Given the description of an element on the screen output the (x, y) to click on. 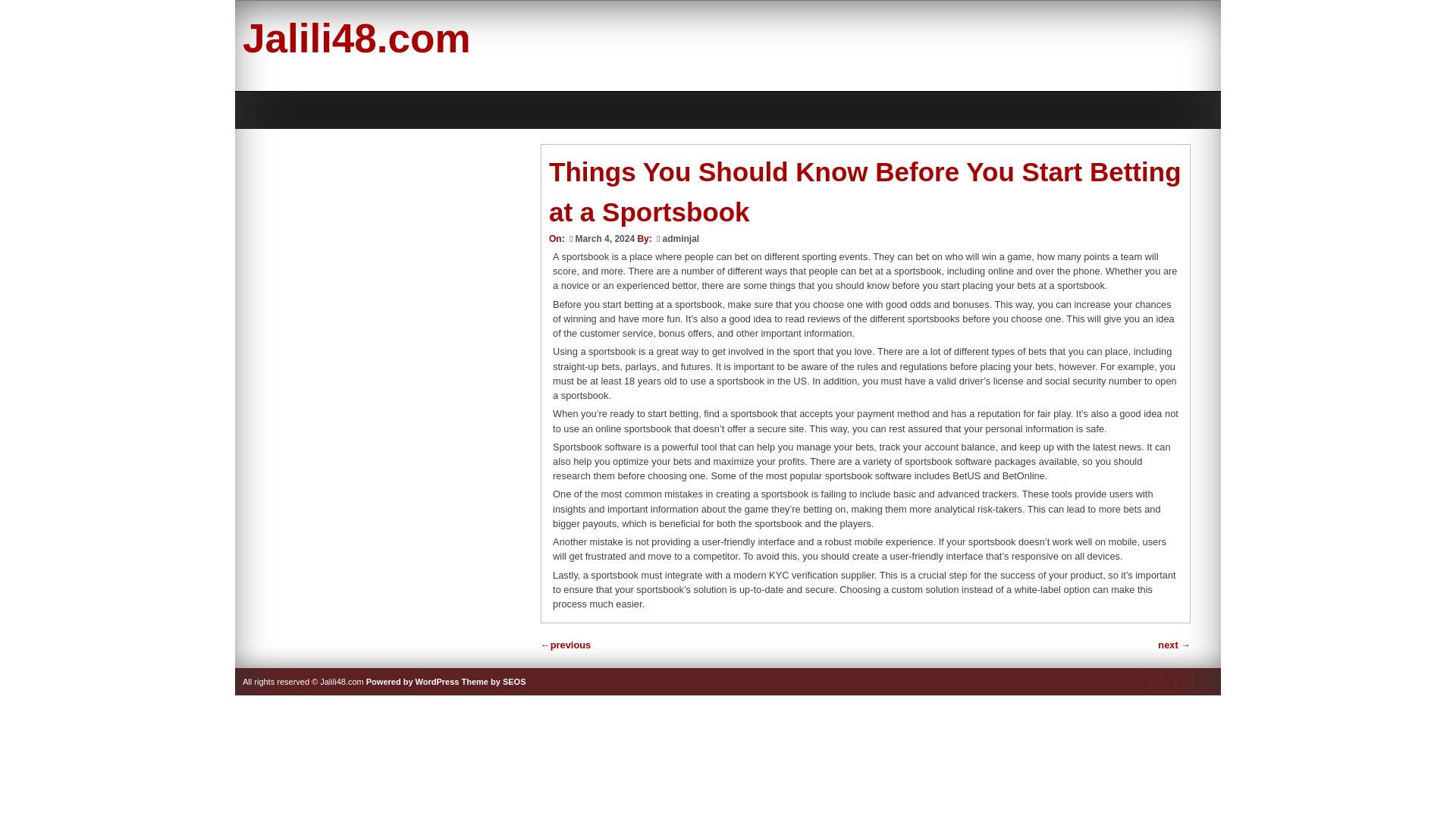
Seos free wordpress themes (493, 681)
Jalili48.com (356, 37)
Powered by WordPress (413, 681)
March 4, 2024 (600, 238)
Theme by SEOS (493, 681)
adminjal (681, 238)
